Given the description of an element on the screen output the (x, y) to click on. 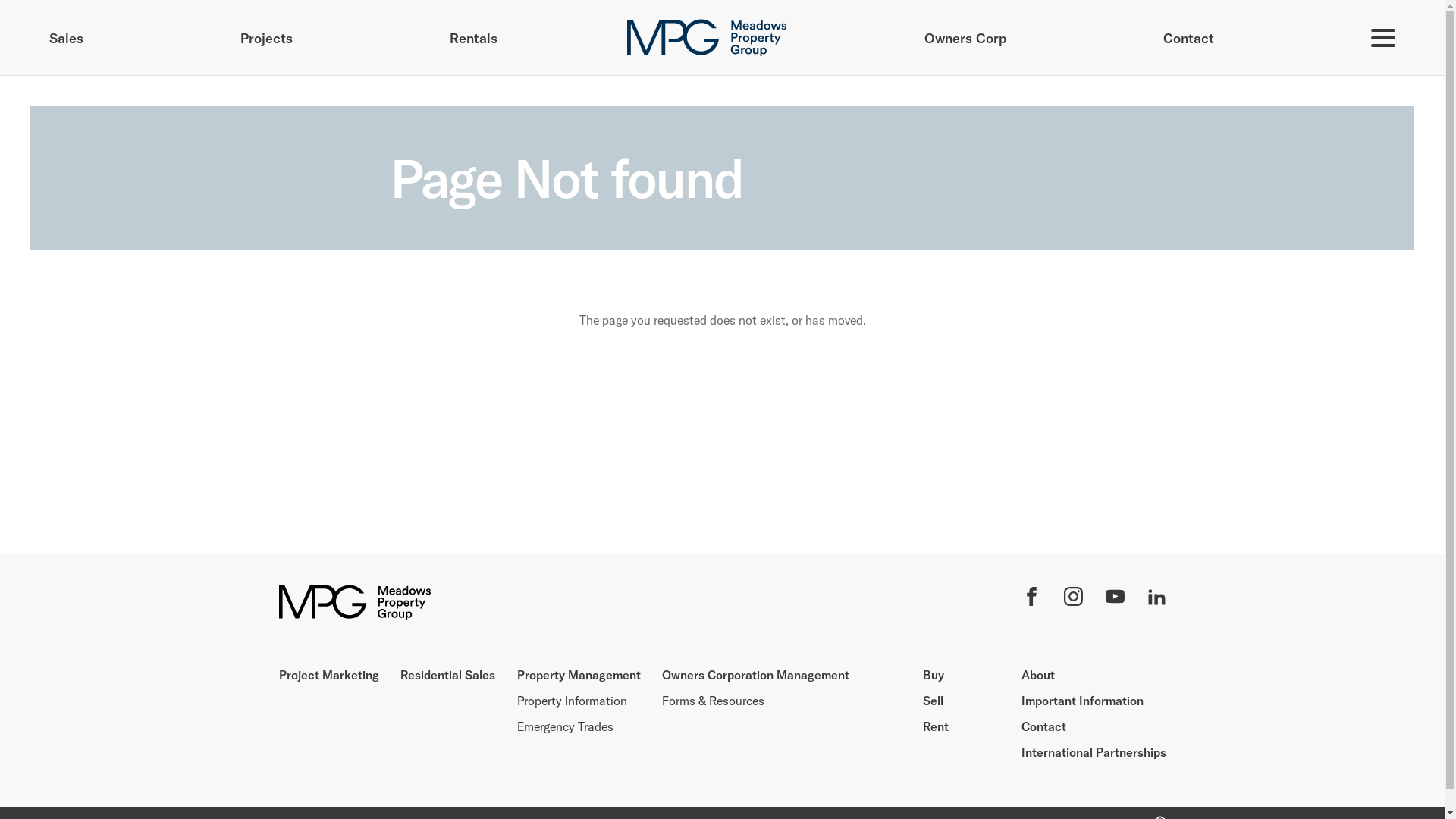
Toggle menu Element type: hover (1383, 37)
linkedin Element type: hover (1155, 598)
International Partnerships Element type: text (1092, 751)
Buy Element type: text (932, 674)
Projects Element type: text (266, 37)
Owners Corp Element type: text (965, 37)
Sales Element type: text (66, 37)
Contact Element type: text (1188, 37)
Forms & Resources Element type: text (713, 700)
Contact Element type: text (1042, 726)
Property Management Element type: text (578, 674)
Register Element type: text (722, 552)
Important Information Element type: text (1081, 700)
youtube Element type: hover (1114, 598)
Emergency Trades Element type: text (565, 726)
About Element type: text (1037, 674)
Residential Sales Element type: text (447, 674)
instagram Element type: hover (1072, 598)
Rentals Element type: text (473, 37)
Rent Element type: text (934, 726)
Submit Element type: text (722, 734)
Property Information Element type: text (572, 700)
Project Marketing Element type: text (329, 674)
Sell Element type: text (932, 700)
Owners Corporation Management Element type: text (755, 674)
facebook Element type: hover (1031, 598)
